Given the description of an element on the screen output the (x, y) to click on. 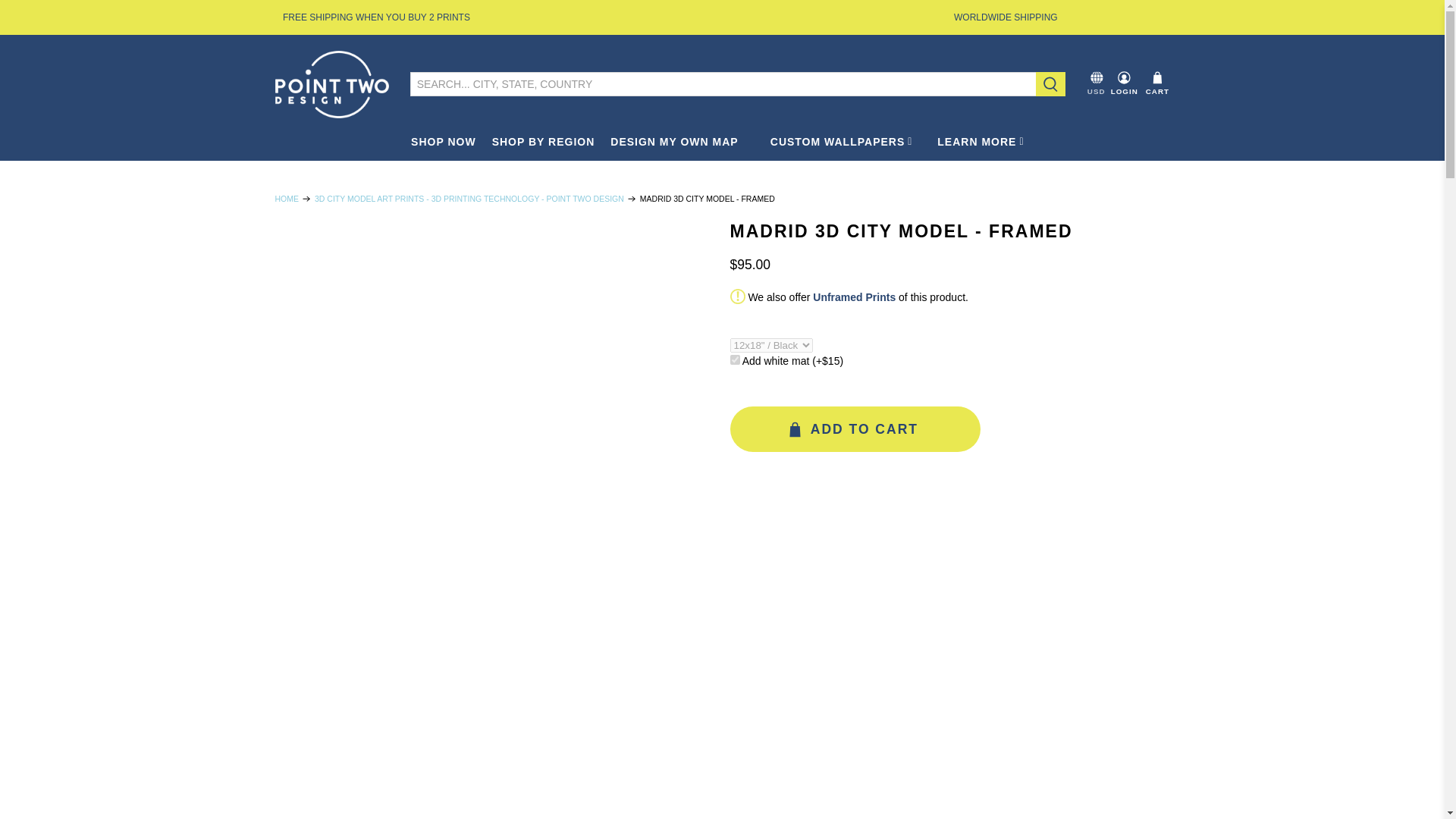
SHOP BY REGION (542, 140)
Point Two Design (331, 83)
CUSTOM WALLPAPERS (846, 140)
Point Two Design (286, 198)
SHOP NOW (443, 140)
LEARN MORE (985, 140)
DESIGN MY OWN MAP (673, 140)
CART (1157, 84)
on (734, 359)
LOGIN (1123, 83)
